Given the description of an element on the screen output the (x, y) to click on. 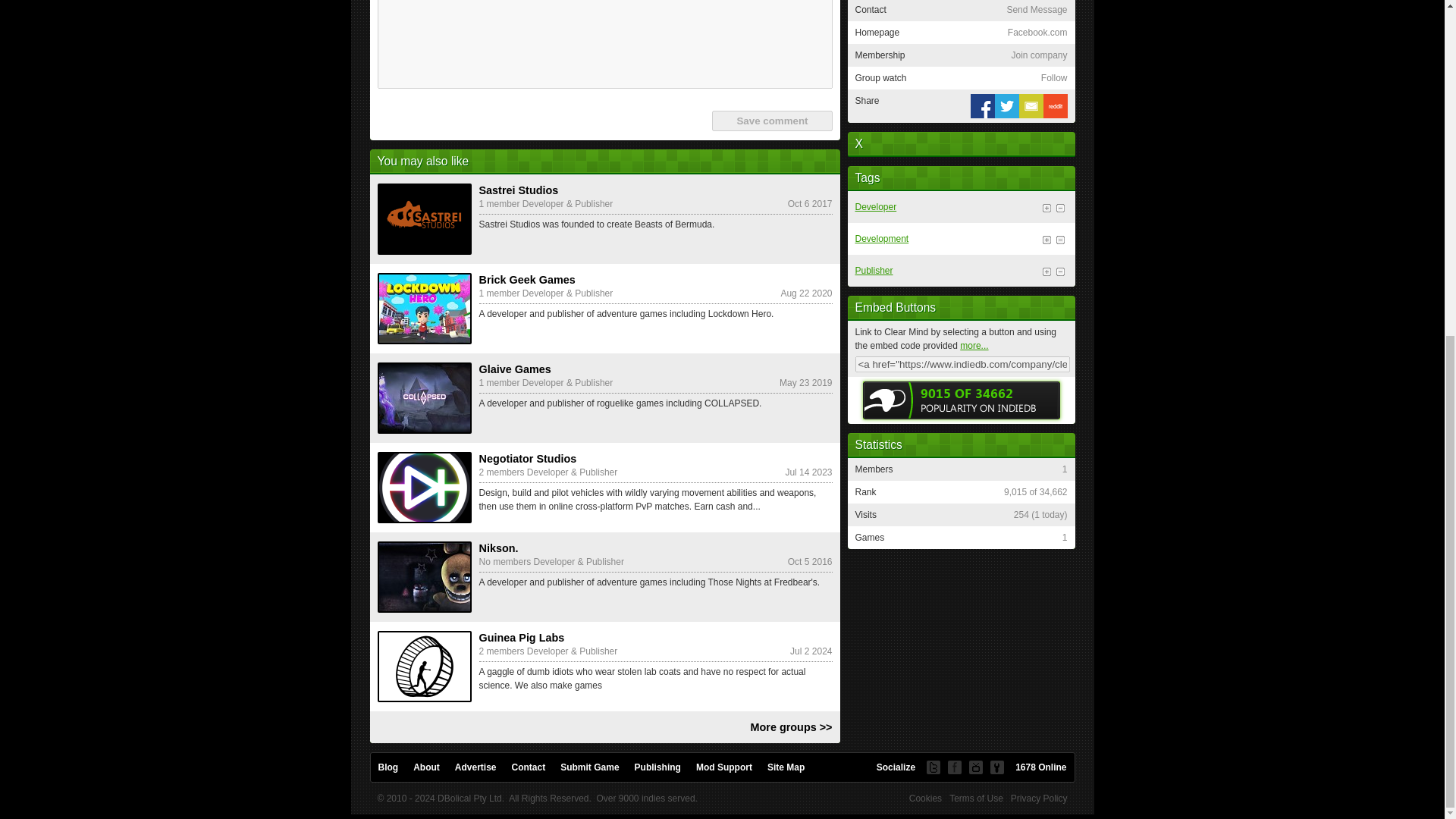
Brick Geek Games (424, 307)
Negotiator Studios (424, 487)
Sastrei Studios (424, 218)
Save comment (771, 120)
Glaive Games (424, 398)
